Given the description of an element on the screen output the (x, y) to click on. 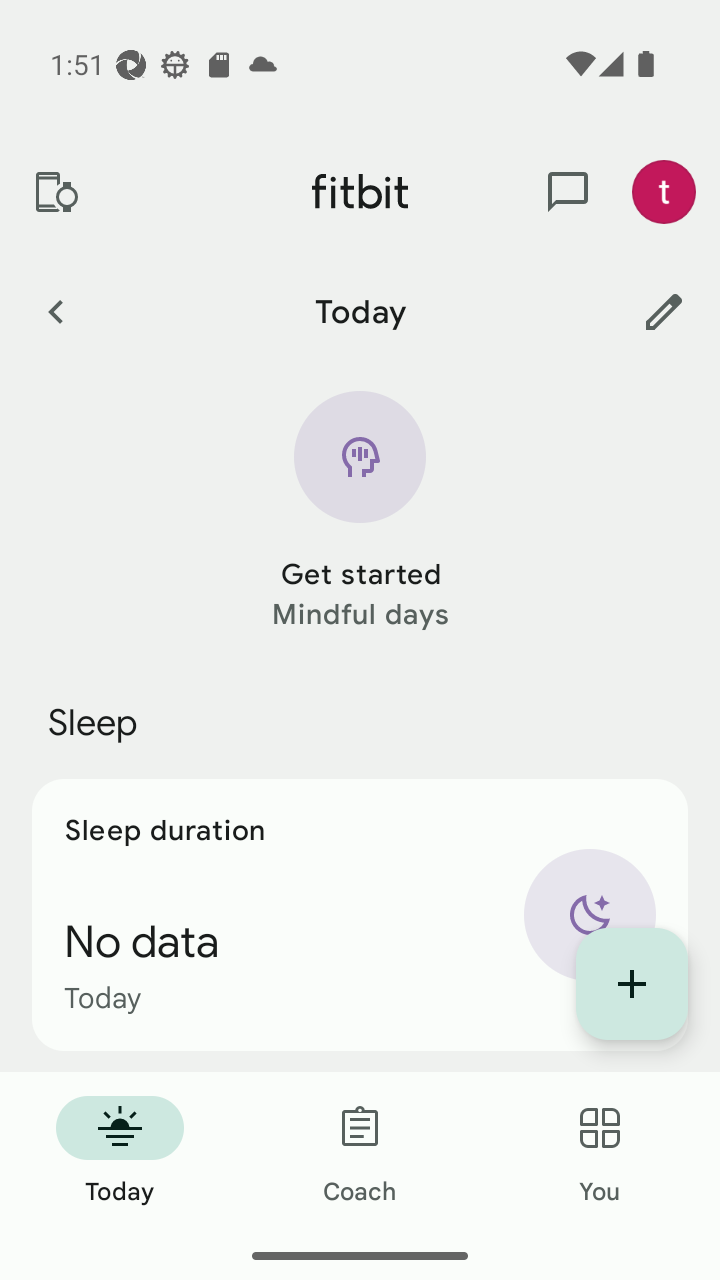
Devices and apps (55, 191)
messages and notifications (567, 191)
Previous Day (55, 311)
Customize (664, 311)
Mindfulness icon Get started Mindful days (360, 512)
Sleep duration No data Today Sleep static arc (359, 914)
Display list of quick log entries (632, 983)
Coach (359, 1151)
You (600, 1151)
